Given the description of an element on the screen output the (x, y) to click on. 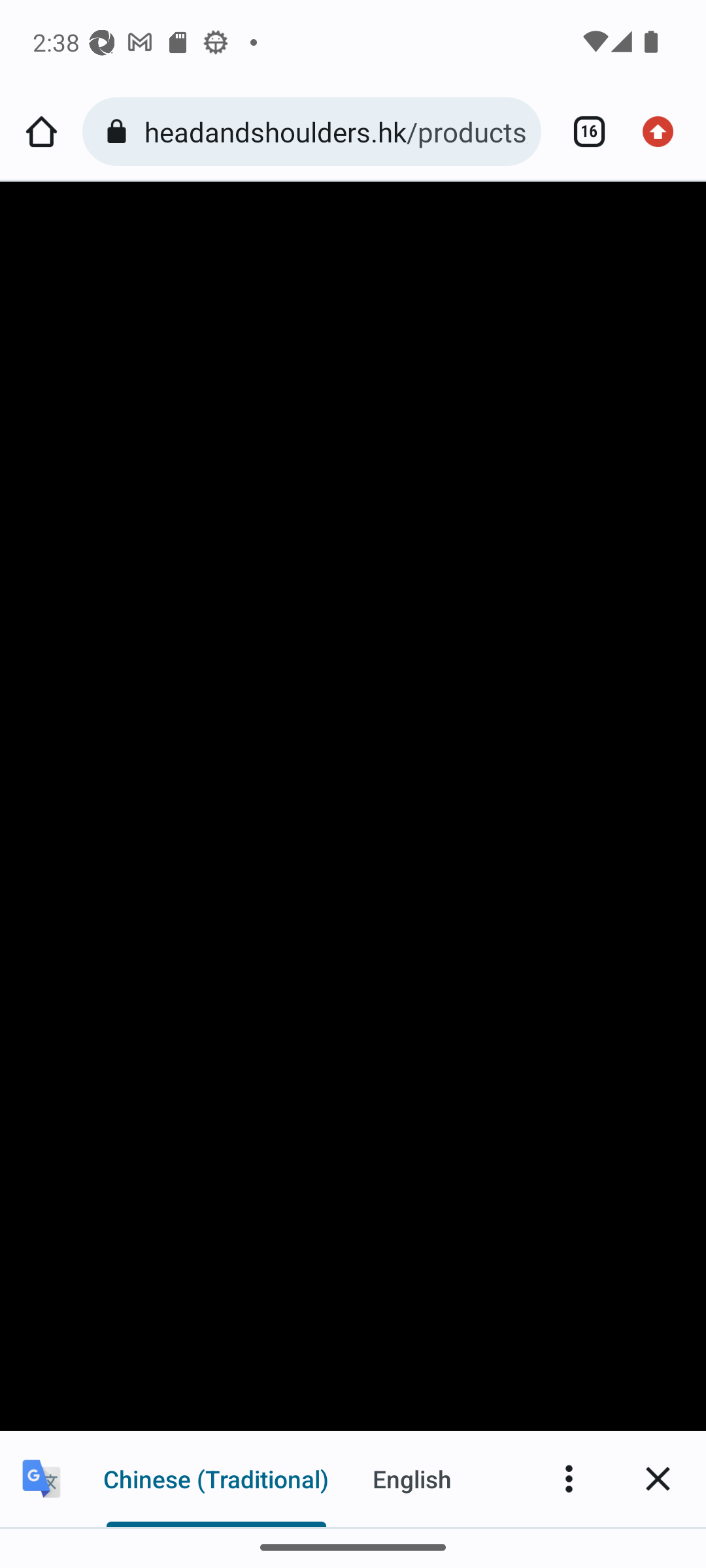
Home (41, 131)
Connection is secure (120, 131)
Switch or close tabs (582, 131)
Update available. More options (664, 131)
English (411, 1478)
More options (568, 1478)
Close (657, 1478)
